Given the description of an element on the screen output the (x, y) to click on. 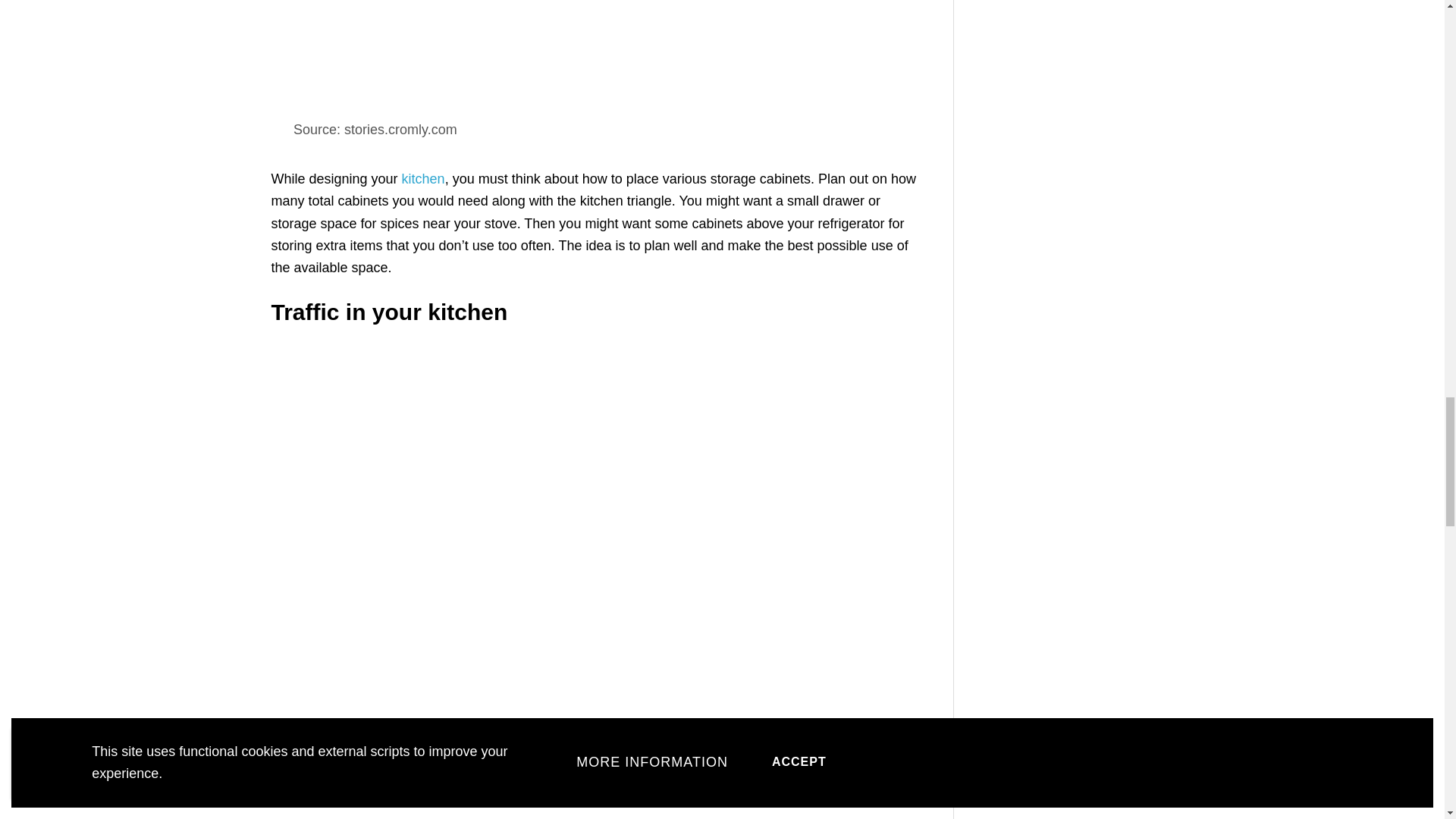
kitchen (423, 178)
